Given the description of an element on the screen output the (x, y) to click on. 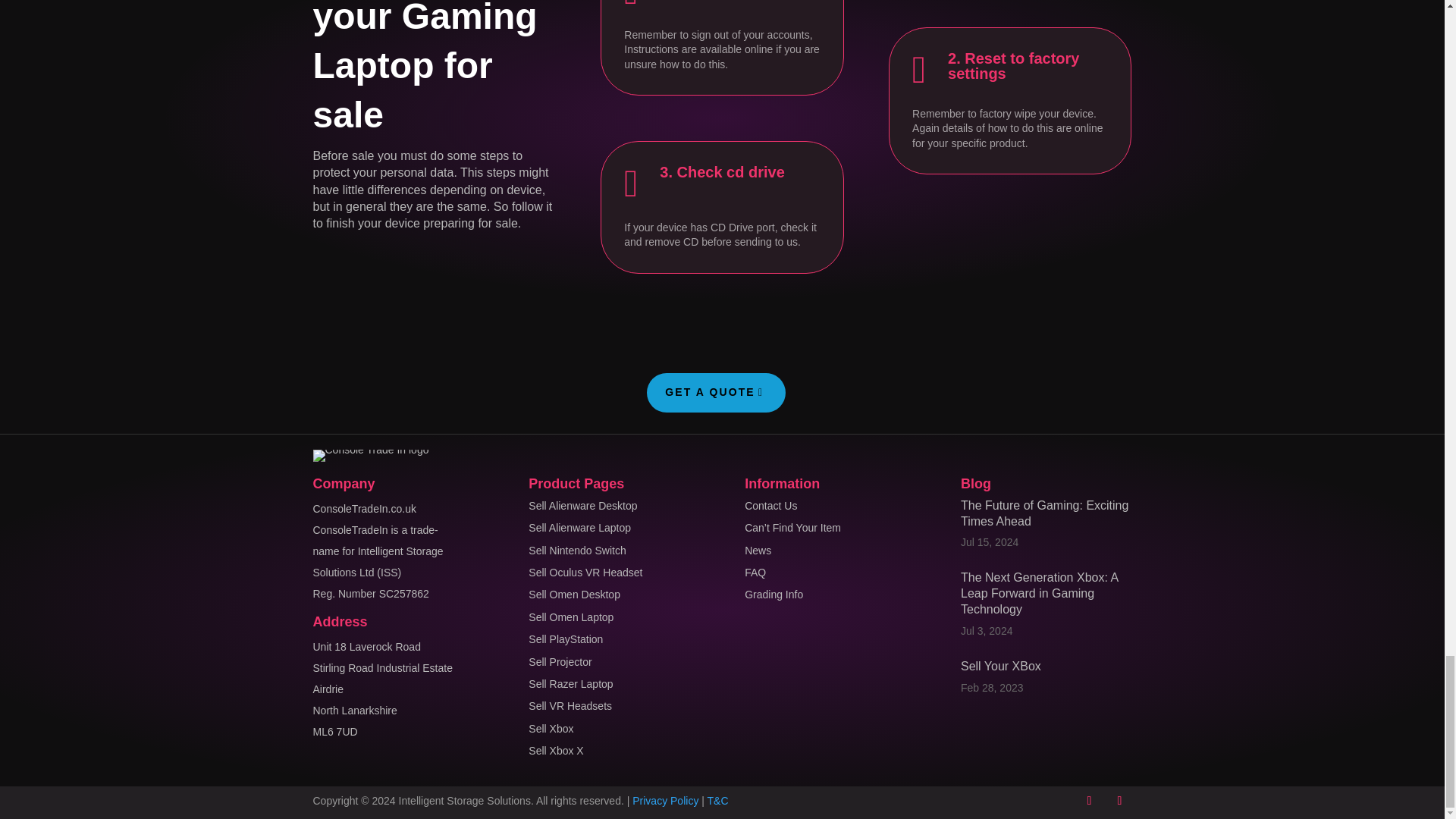
console-trade-in-logo (370, 455)
FAQ (754, 572)
GET A QUOTE (716, 392)
Sell Nintendo Switch (577, 550)
Sell Alienware Laptop (579, 527)
Sell Omen Laptop (570, 616)
Sell Oculus VR Headset (585, 572)
Sell Your XBox (1000, 666)
Sell Razer Laptop (570, 684)
